Given the description of an element on the screen output the (x, y) to click on. 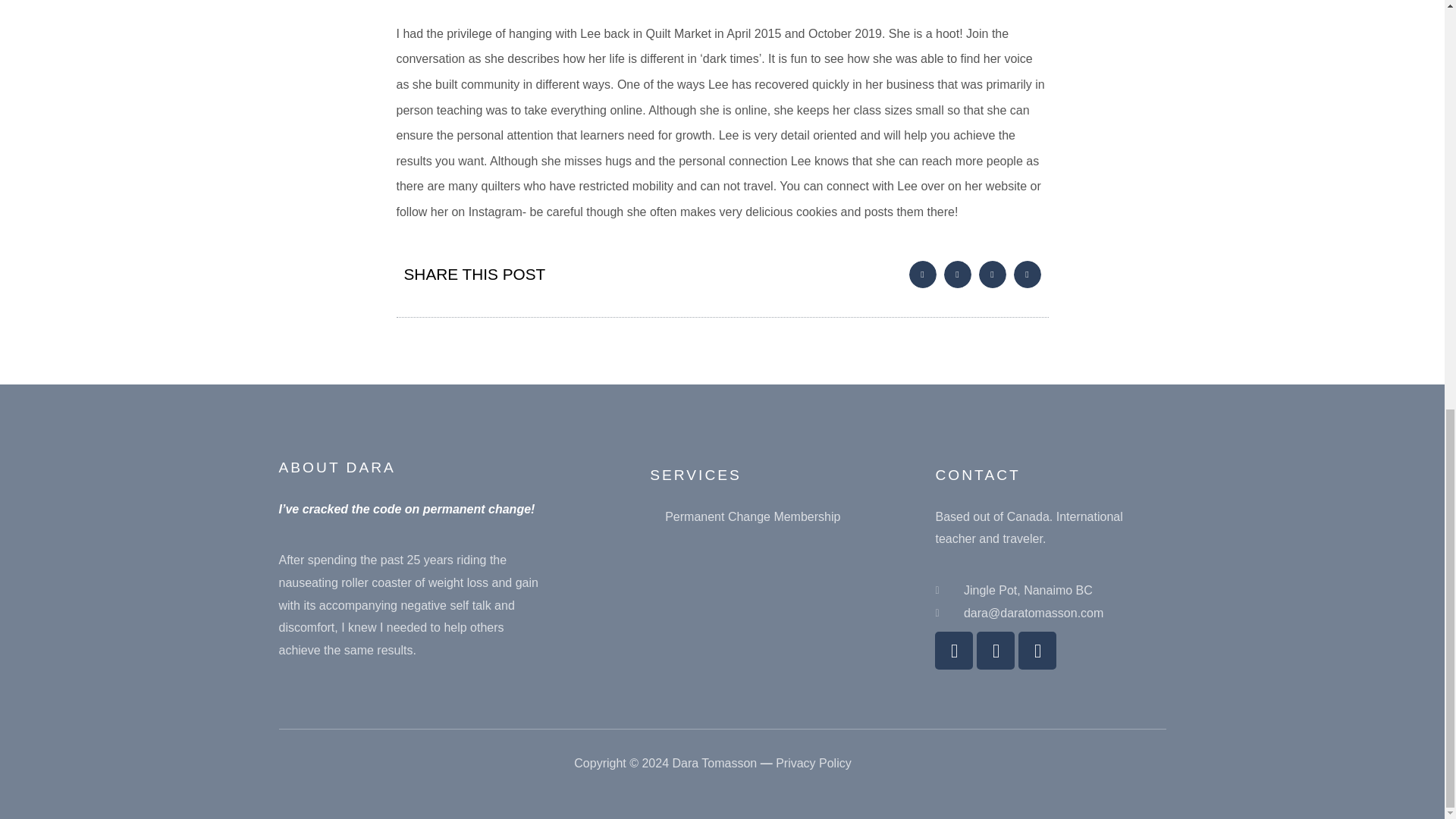
Permanent Change Membership (744, 517)
Facebook (953, 650)
Privacy Policy (813, 762)
Youtube (995, 650)
Instagram (1037, 650)
